Given the description of an element on the screen output the (x, y) to click on. 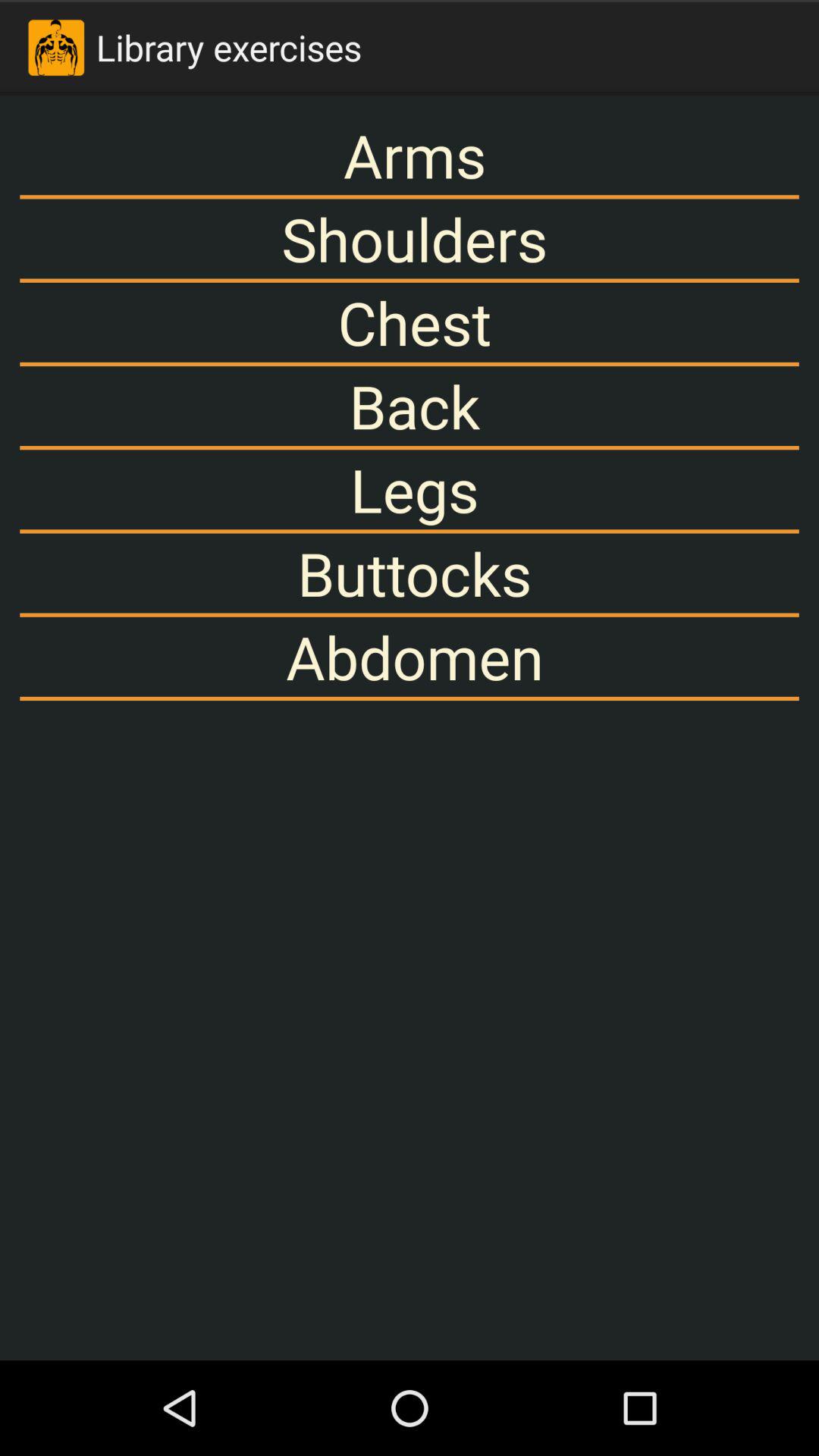
click the abdomen icon (409, 656)
